Given the description of an element on the screen output the (x, y) to click on. 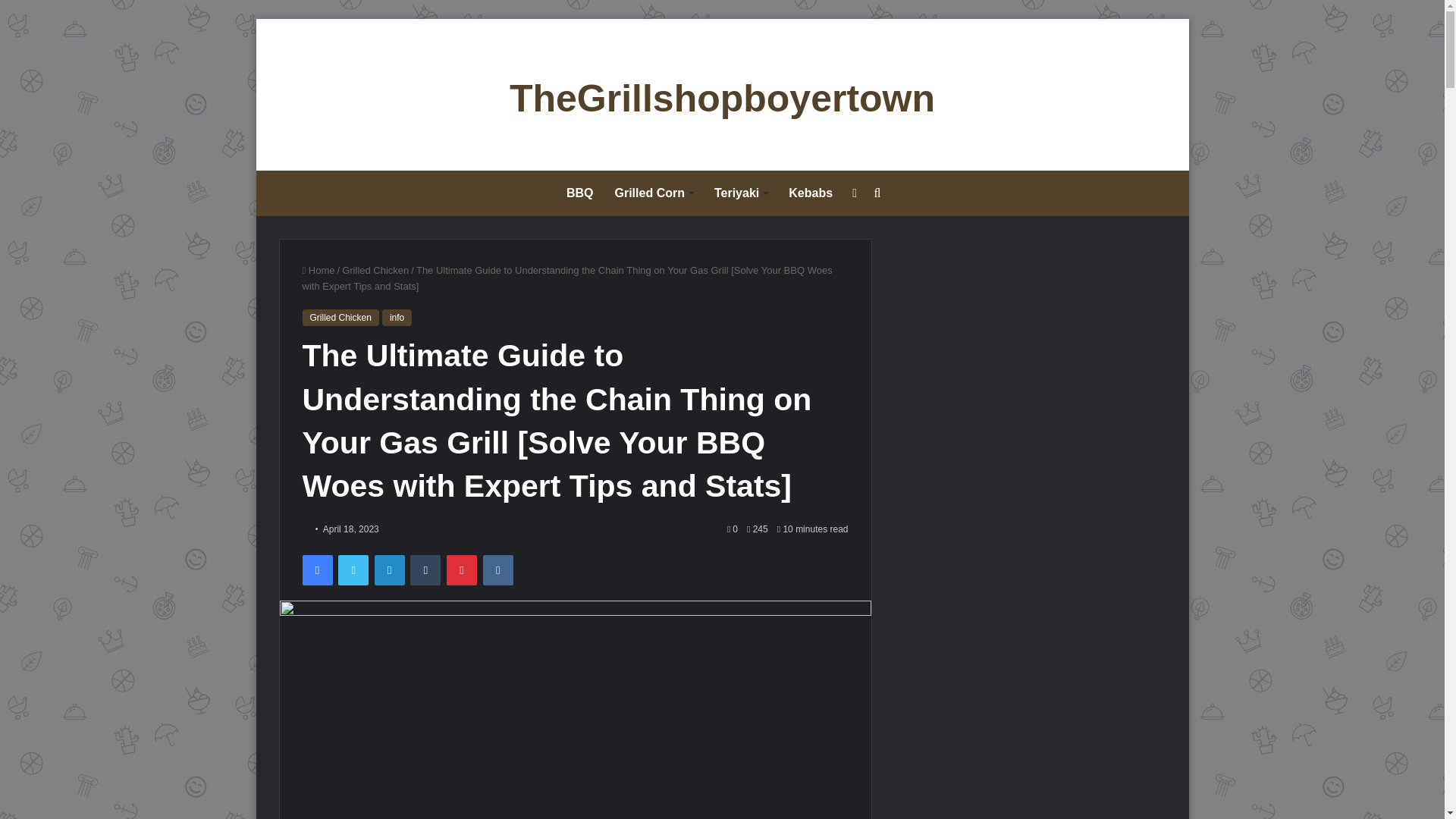
Grilled Corn (653, 193)
LinkedIn (389, 570)
Twitter (352, 570)
BBQ (580, 193)
info (396, 317)
Pinterest (461, 570)
TheGrillshopboyertown (721, 98)
Grilled Chicken (339, 317)
Tumblr (425, 570)
Pinterest (461, 570)
